Given the description of an element on the screen output the (x, y) to click on. 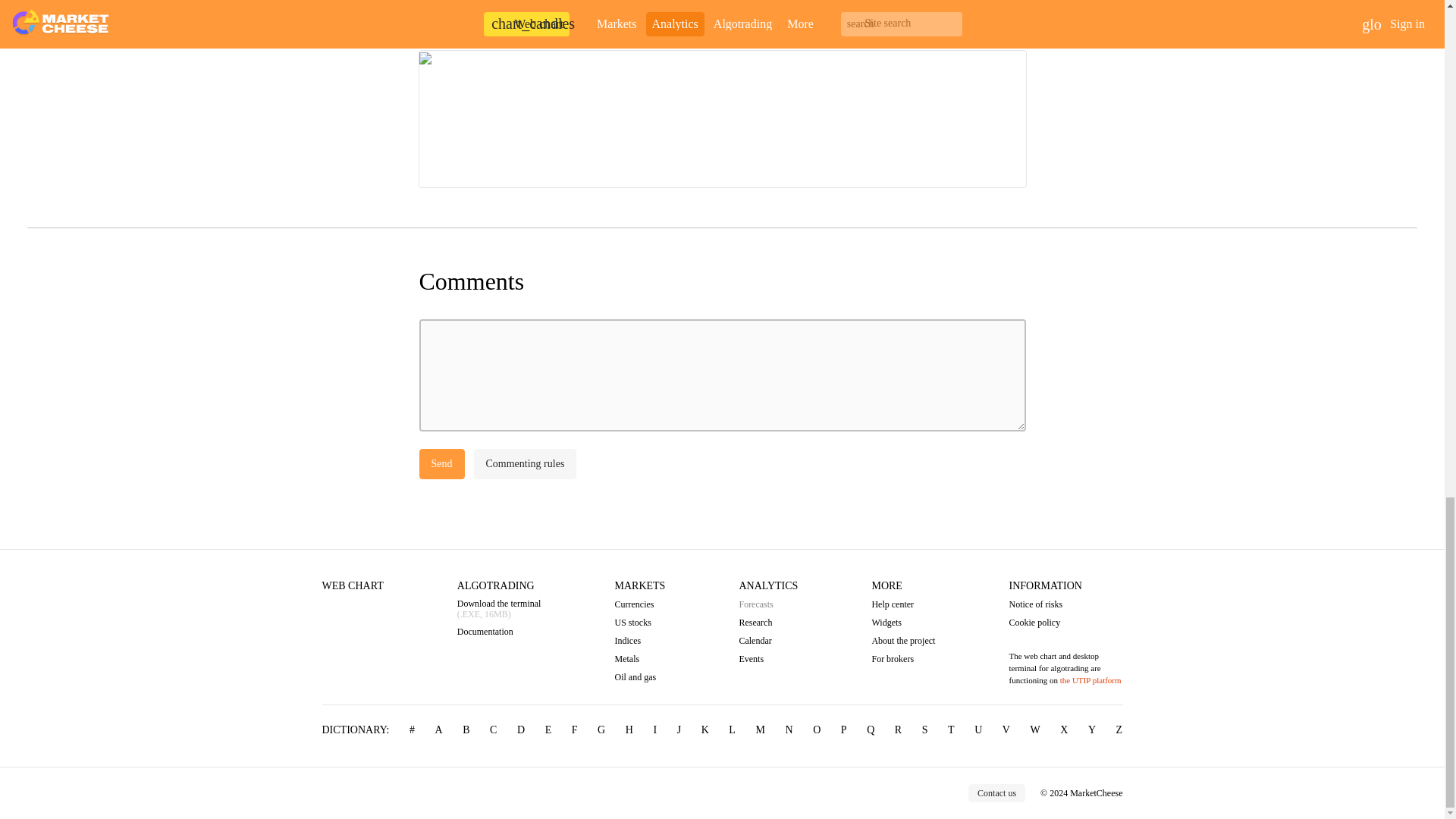
Forecasts (767, 604)
Research (767, 622)
Calendar (767, 640)
Notice of risks (1065, 604)
Oil and gas (639, 676)
Metals (639, 658)
Documentation (499, 631)
Currencies (639, 604)
DICTIONARY: (354, 729)
Widgets (902, 622)
For brokers (902, 658)
the UTIP platform (1090, 679)
Events (767, 658)
About the project (902, 640)
US stocks (639, 622)
